Given the description of an element on the screen output the (x, y) to click on. 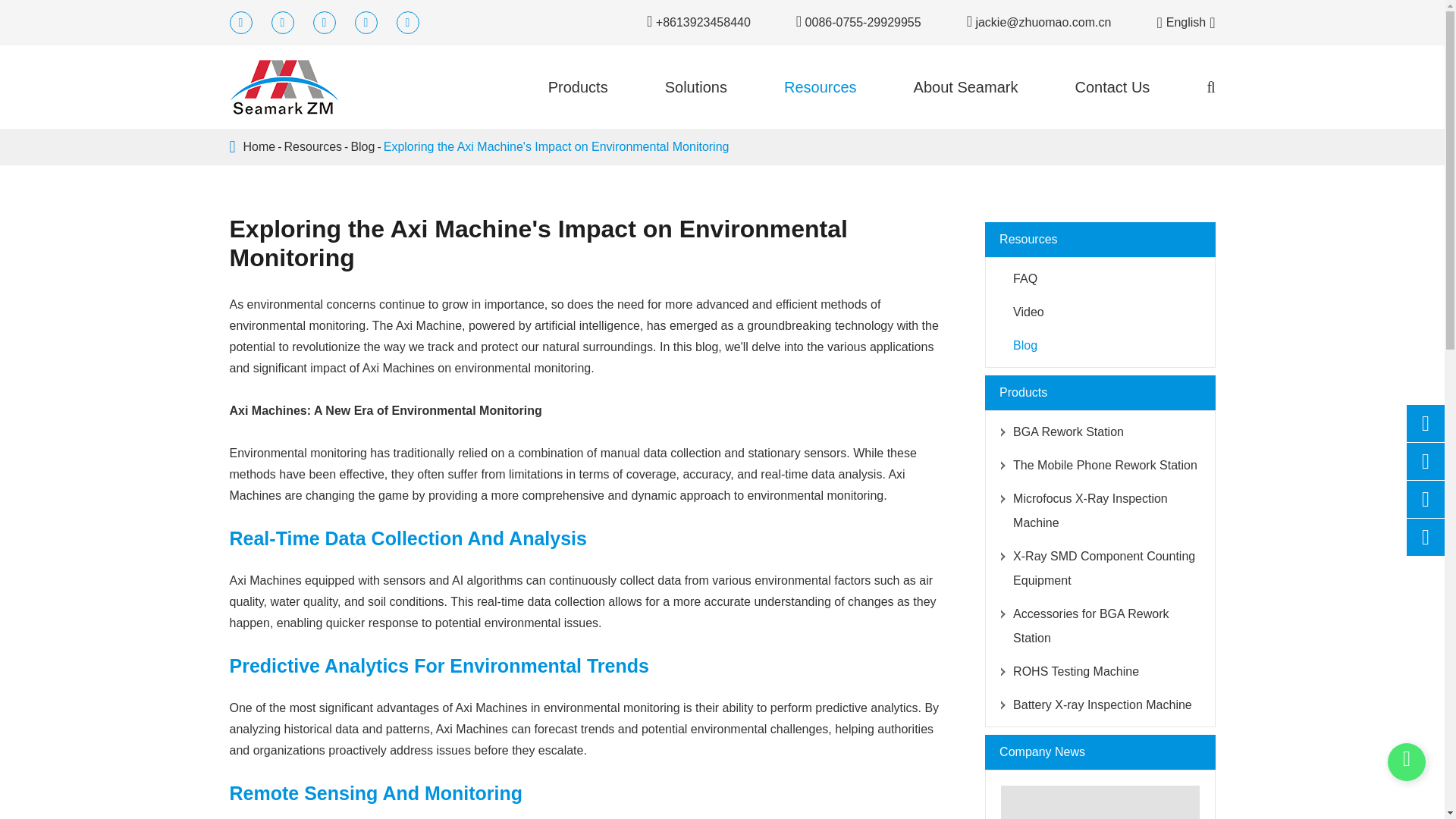
Blog (362, 147)
Resources (312, 147)
